Given the description of an element on the screen output the (x, y) to click on. 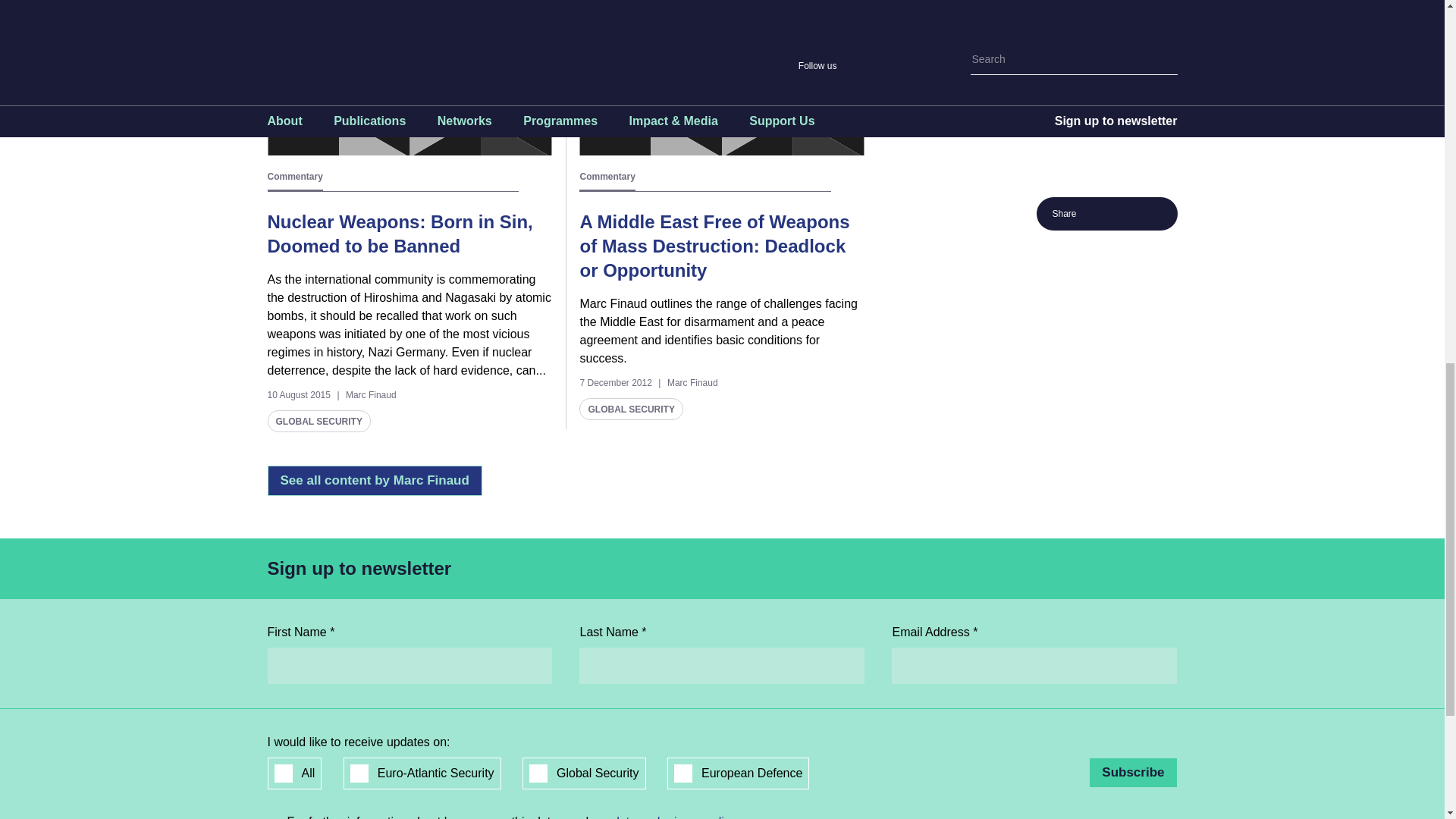
Search for posts tagged as: Global Security (317, 421)
Nuclear Weapons: Born in Sin, Doomed to be Banned (399, 233)
Marc Finaud (371, 394)
Subscribe (1132, 772)
Nuclear Weapons: Born in Sin, Doomed to be Banned (408, 77)
